Given the description of an element on the screen output the (x, y) to click on. 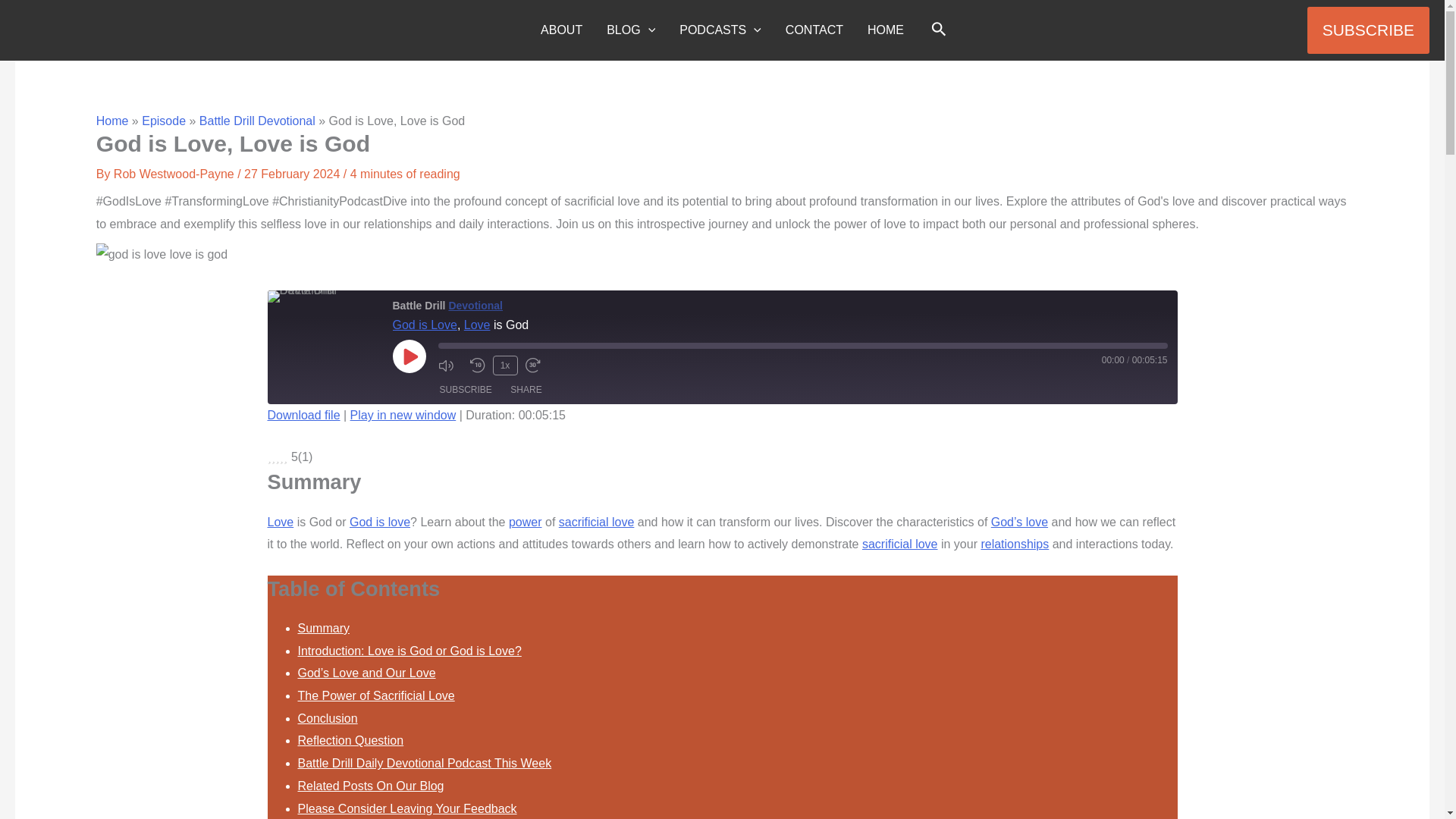
Play (409, 356)
Playback Speed (505, 365)
View all posts by Rob Westwood-Payne (175, 173)
HOME (885, 30)
Battle Drill Devotional (323, 296)
ABOUT (561, 30)
PODCASTS (719, 30)
BLOG (630, 30)
CONTACT (814, 30)
Fast Forward 30 seconds (536, 365)
Share (525, 389)
SUBSCRIBE (1368, 29)
Subscribe (465, 389)
Rewind 10 seconds (477, 365)
